Given the description of an element on the screen output the (x, y) to click on. 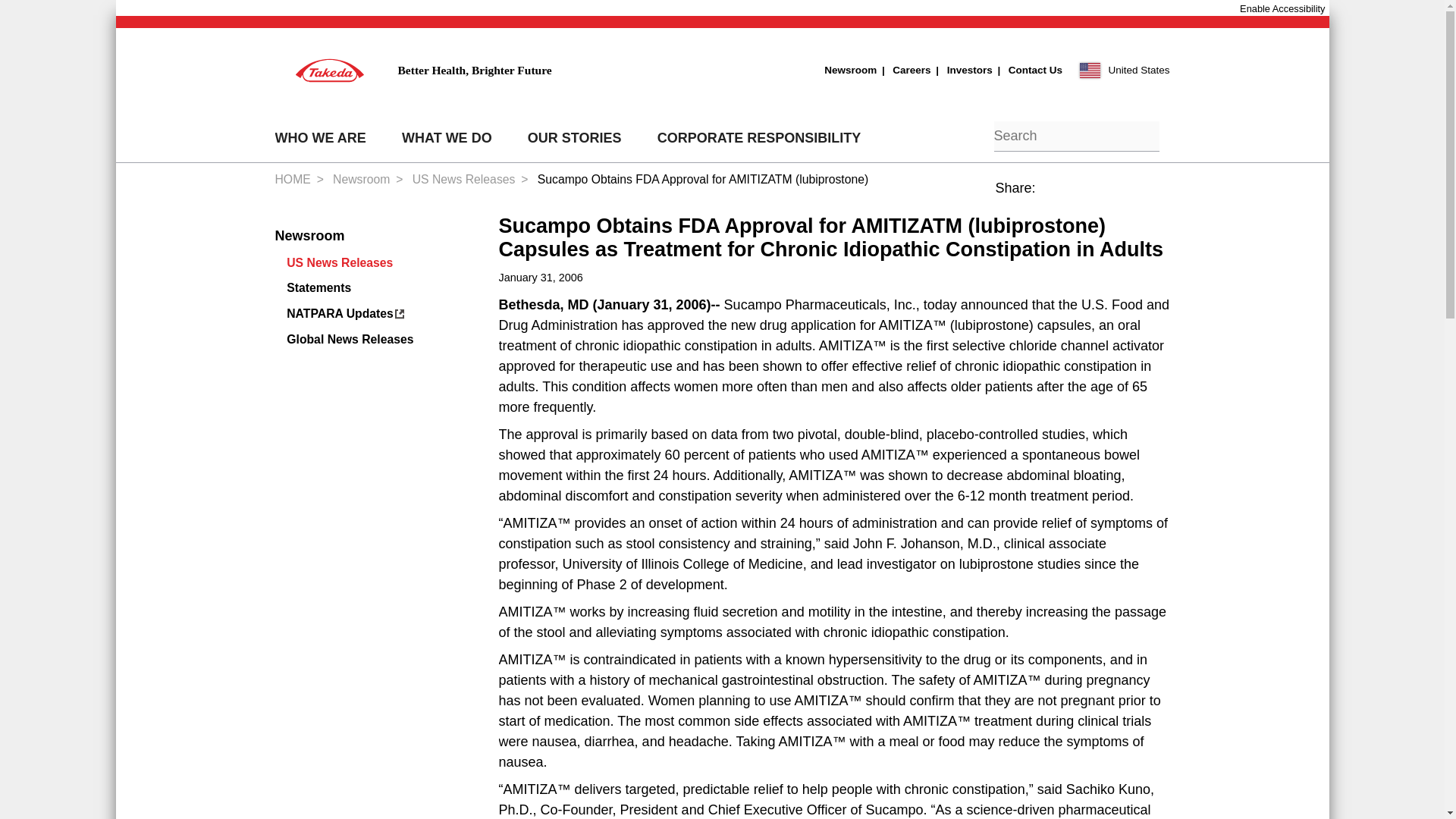
linkedin (1085, 195)
email (1154, 195)
facebook (1050, 195)
Better Health, Brighter Future (413, 70)
Newsroom (850, 70)
twitter (1119, 195)
Careers (903, 70)
United States (1125, 70)
Contact Us (1027, 70)
Search (973, 137)
Investors (961, 70)
